Given the description of an element on the screen output the (x, y) to click on. 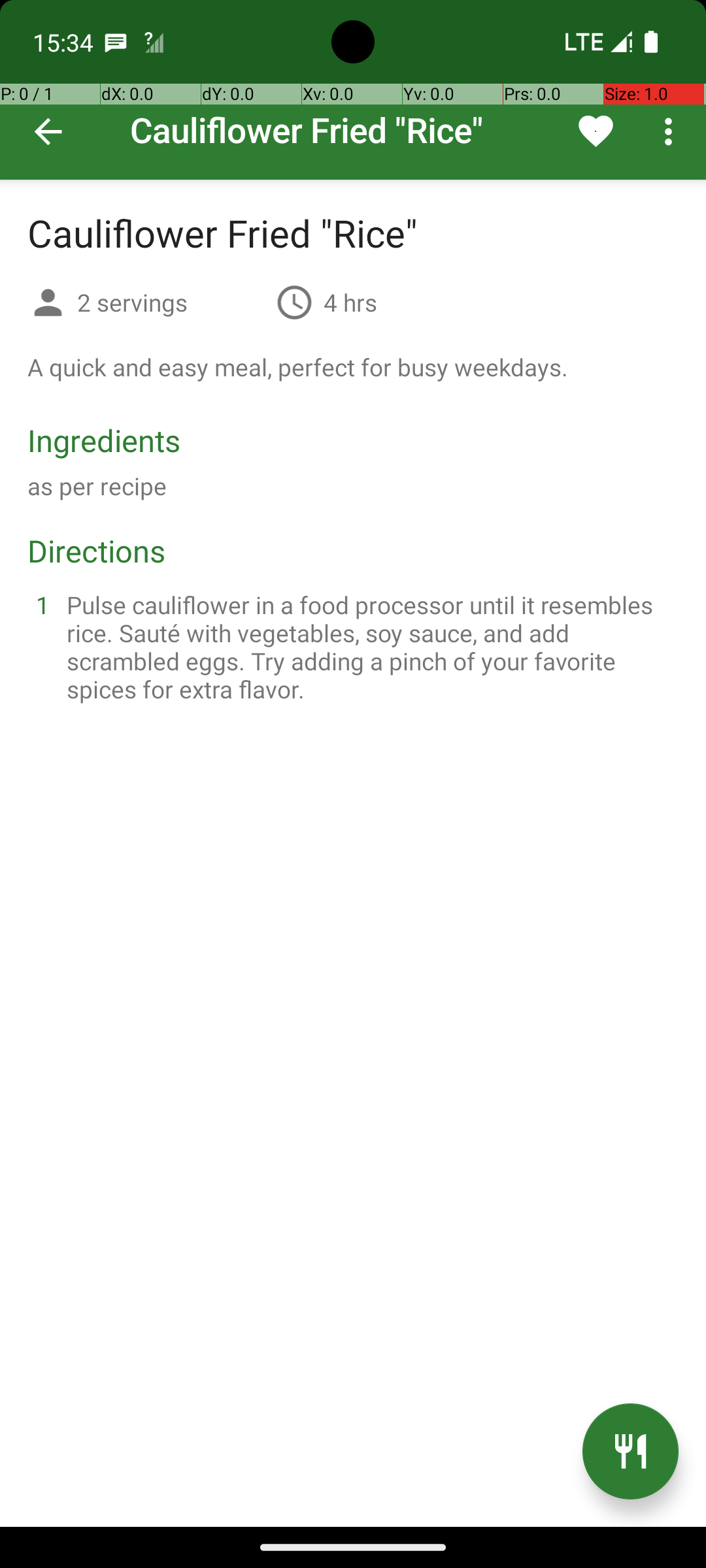
Pulse cauliflower in a food processor until it resembles rice. Sauté with vegetables, soy sauce, and add scrambled eggs. Try adding a pinch of your favorite spices for extra flavor. Element type: android.widget.TextView (368, 646)
